Given the description of an element on the screen output the (x, y) to click on. 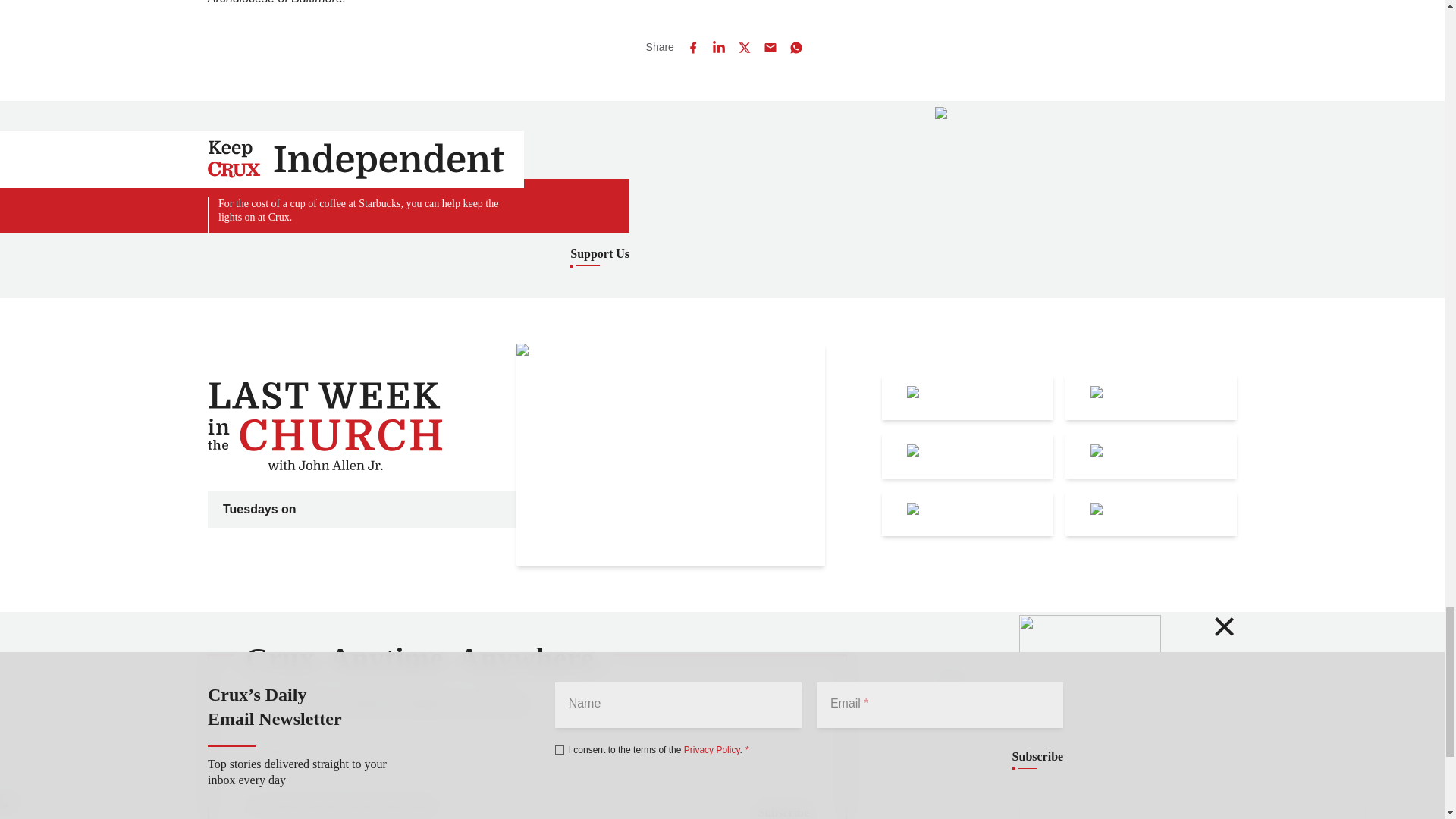
true (250, 805)
